Given the description of an element on the screen output the (x, y) to click on. 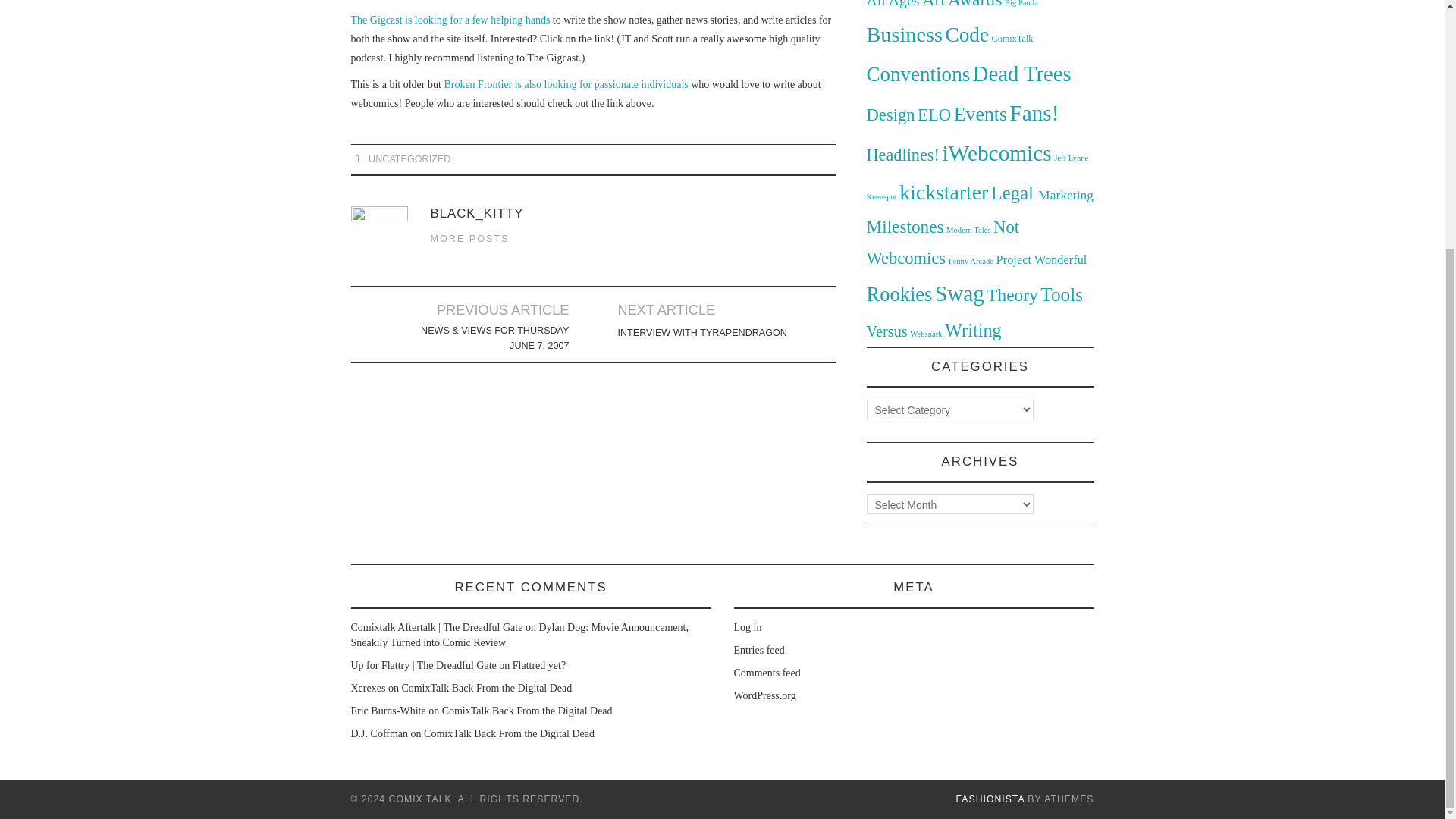
ComixTalk (1012, 38)
Jeff Lynne (1070, 157)
The Gigcast is looking for a few helping hands (450, 19)
Legal (1014, 192)
Fans! (1034, 112)
iWebcomics (996, 152)
Dead Trees (1021, 73)
INTERVIEW WITH TYRAPENDRAGON (701, 332)
ELO (933, 114)
Design (890, 114)
Conventions (917, 74)
Code (966, 34)
Marketing (1065, 194)
Keenspot (881, 196)
Big Panda (1021, 3)
